Given the description of an element on the screen output the (x, y) to click on. 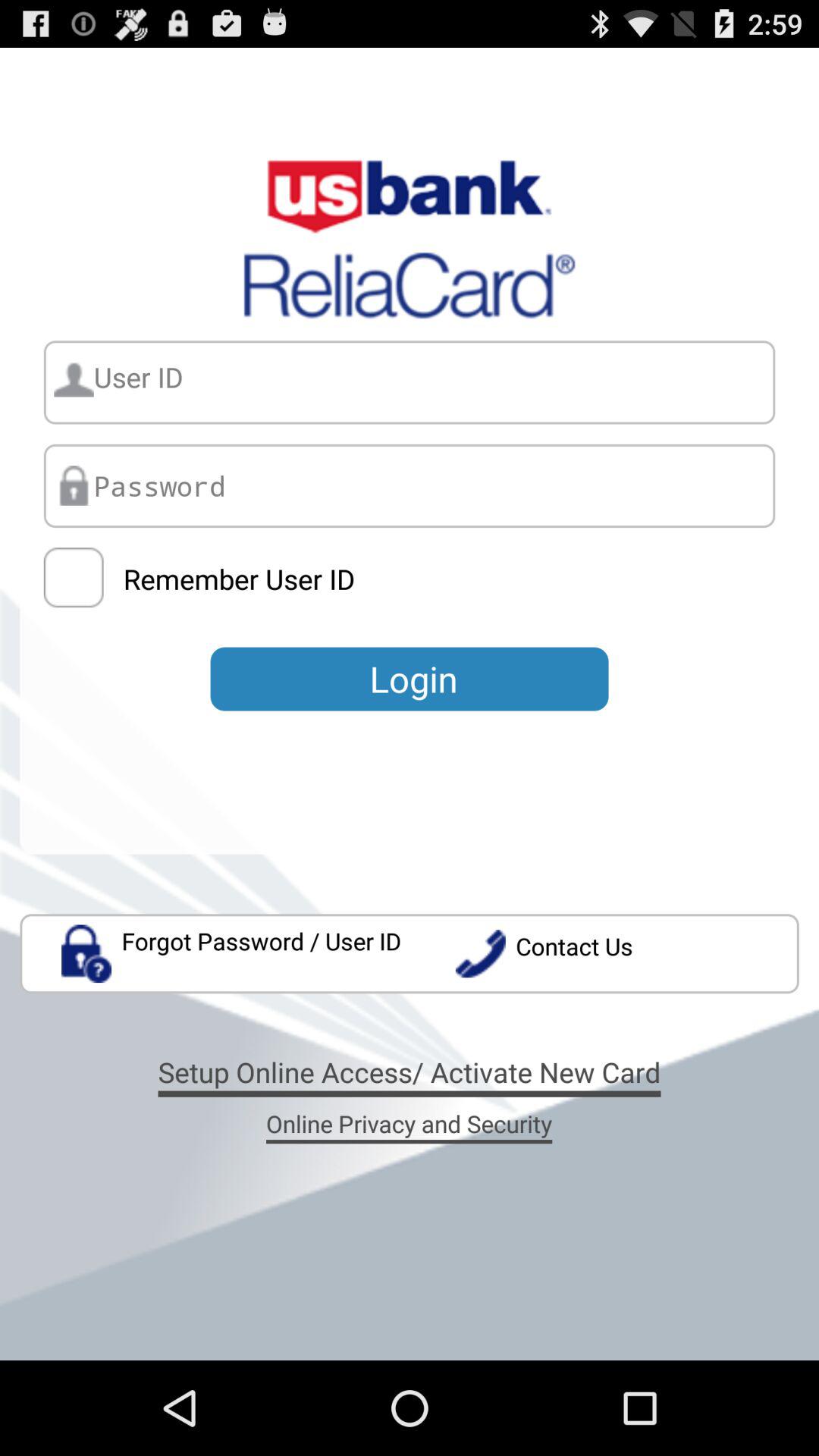
tap the icon to the left of remember user id item (73, 577)
